Given the description of an element on the screen output the (x, y) to click on. 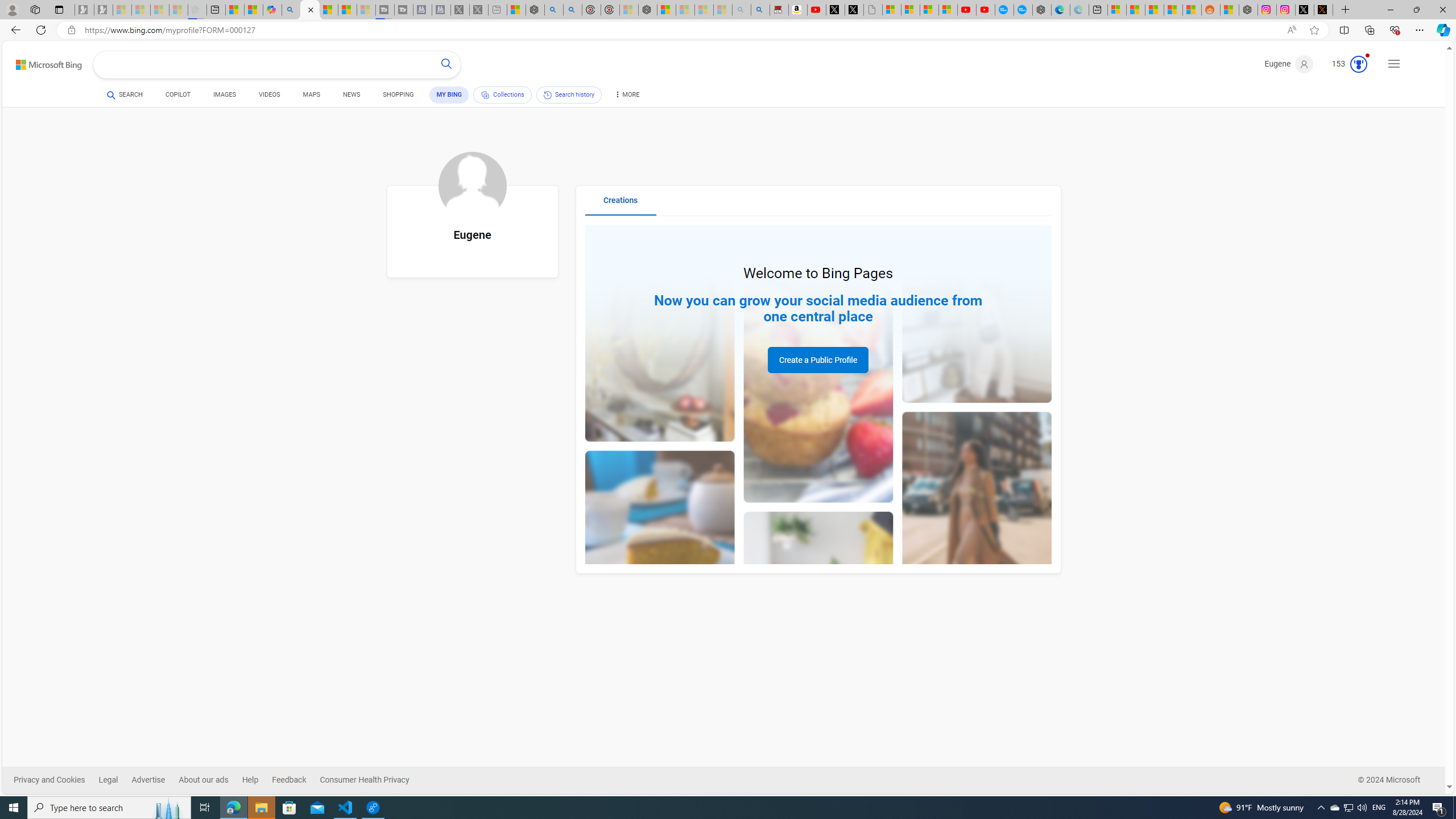
Dropdown Menu (625, 94)
